Given the description of an element on the screen output the (x, y) to click on. 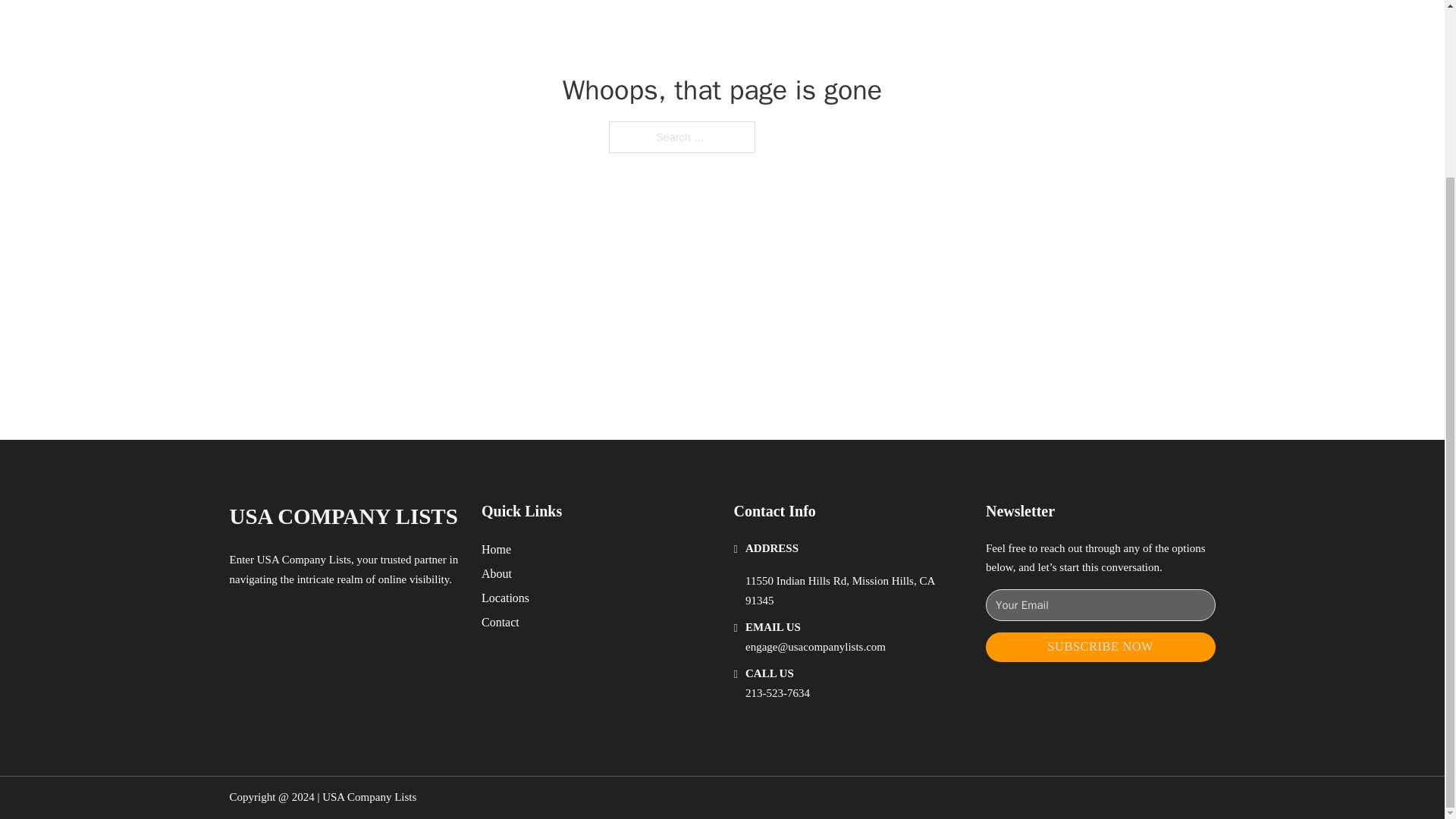
USA COMPANY LISTS (342, 516)
SUBSCRIBE NOW (1100, 646)
Contact (500, 621)
Locations (505, 598)
213-523-7634 (777, 693)
Home (496, 548)
About (496, 573)
